Given the description of an element on the screen output the (x, y) to click on. 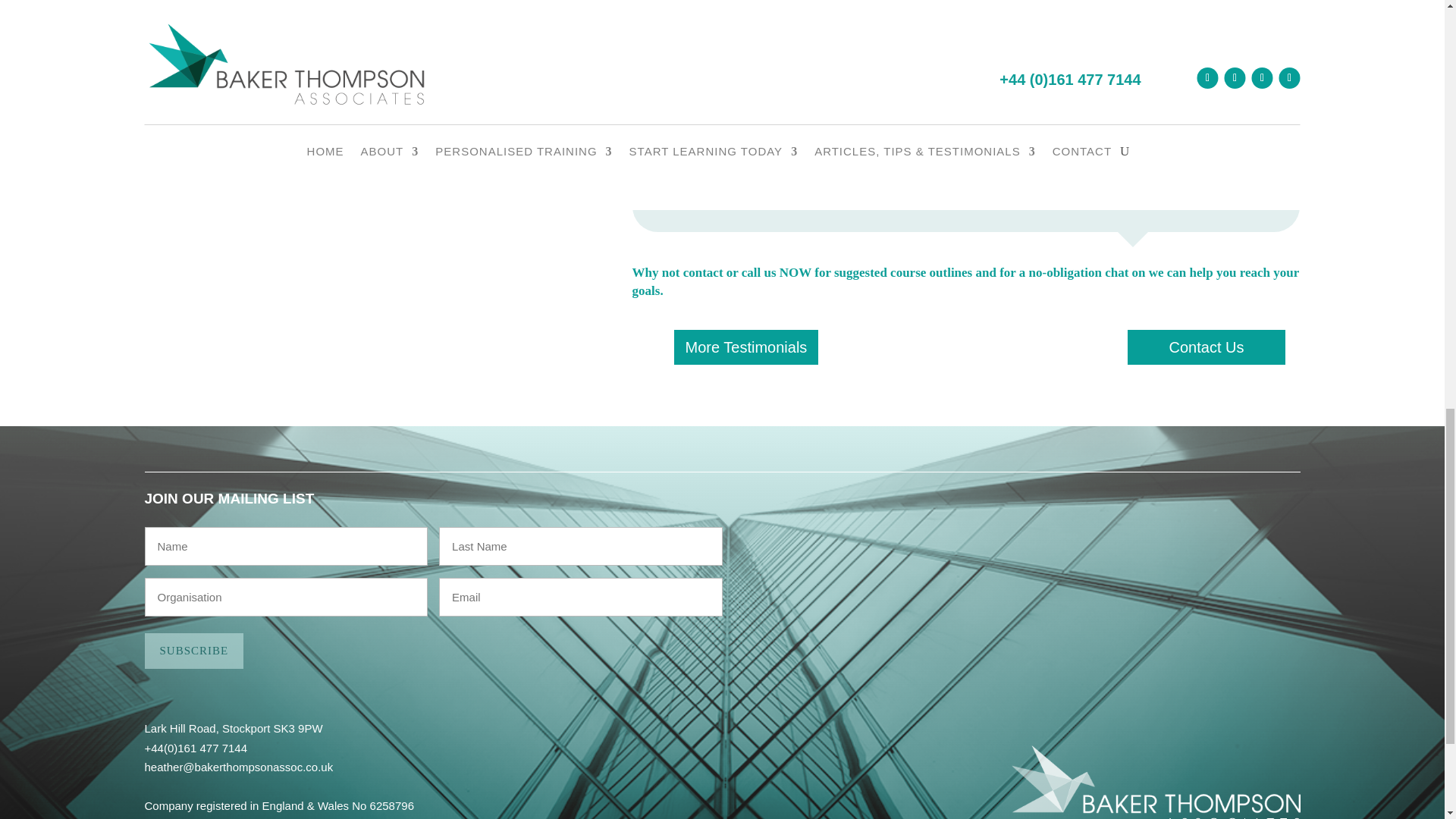
Subscribe (193, 651)
